Given the description of an element on the screen output the (x, y) to click on. 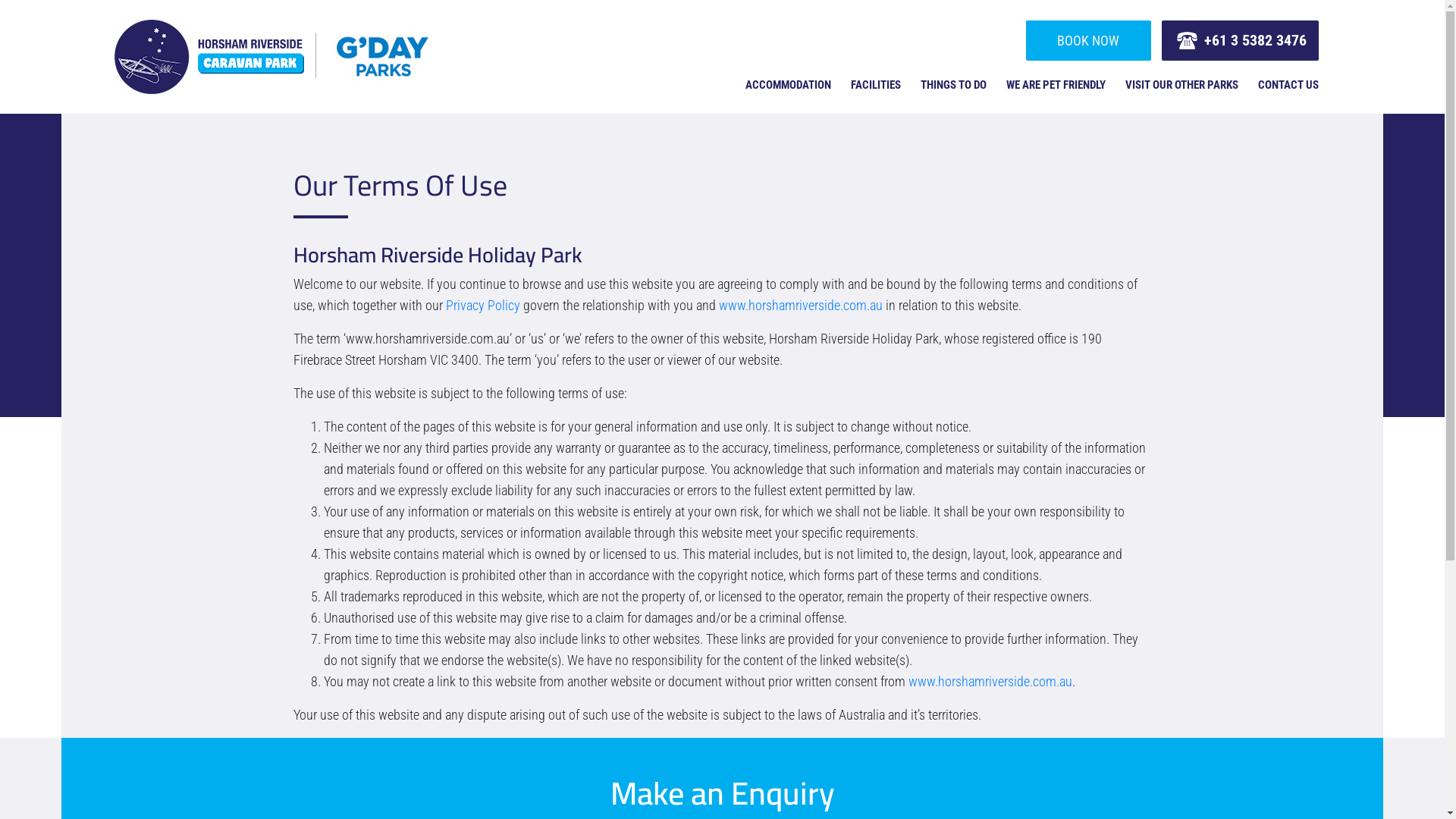
Privacy Policy Element type: text (482, 305)
BOOK NOW Element type: text (1088, 39)
WE ARE PET FRIENDLY Element type: text (1055, 84)
ACCOMMODATION Element type: text (788, 84)
www.horshamriverside.com.au Element type: text (800, 305)
VISIT OUR OTHER PARKS Element type: text (1181, 84)
+61 3 5382 3476 Element type: text (1239, 39)
www.horshamriverside.com.au Element type: text (990, 681)
FACILITIES Element type: text (875, 84)
THINGS TO DO Element type: text (953, 84)
CONTACT US Element type: text (1288, 84)
